Given the description of an element on the screen output the (x, y) to click on. 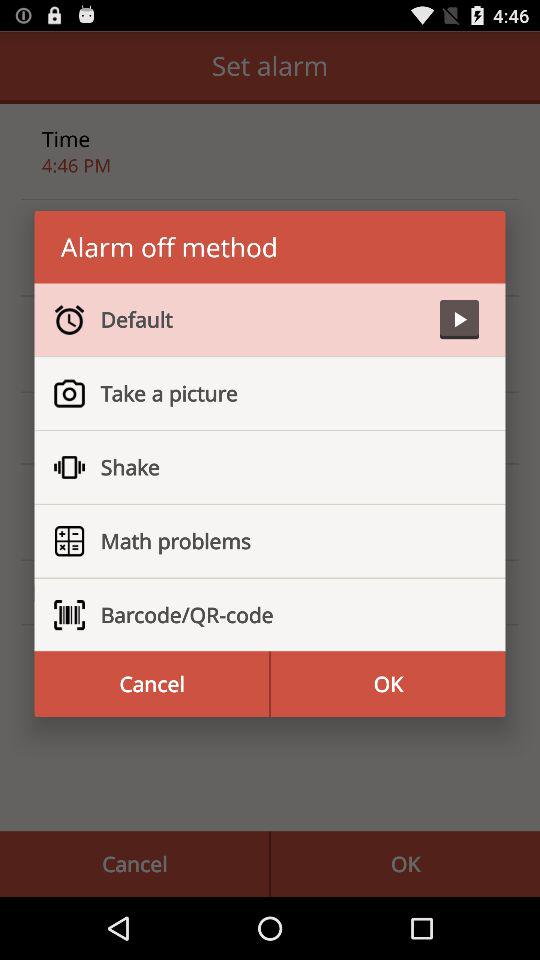
swipe to default icon (262, 319)
